Given the description of an element on the screen output the (x, y) to click on. 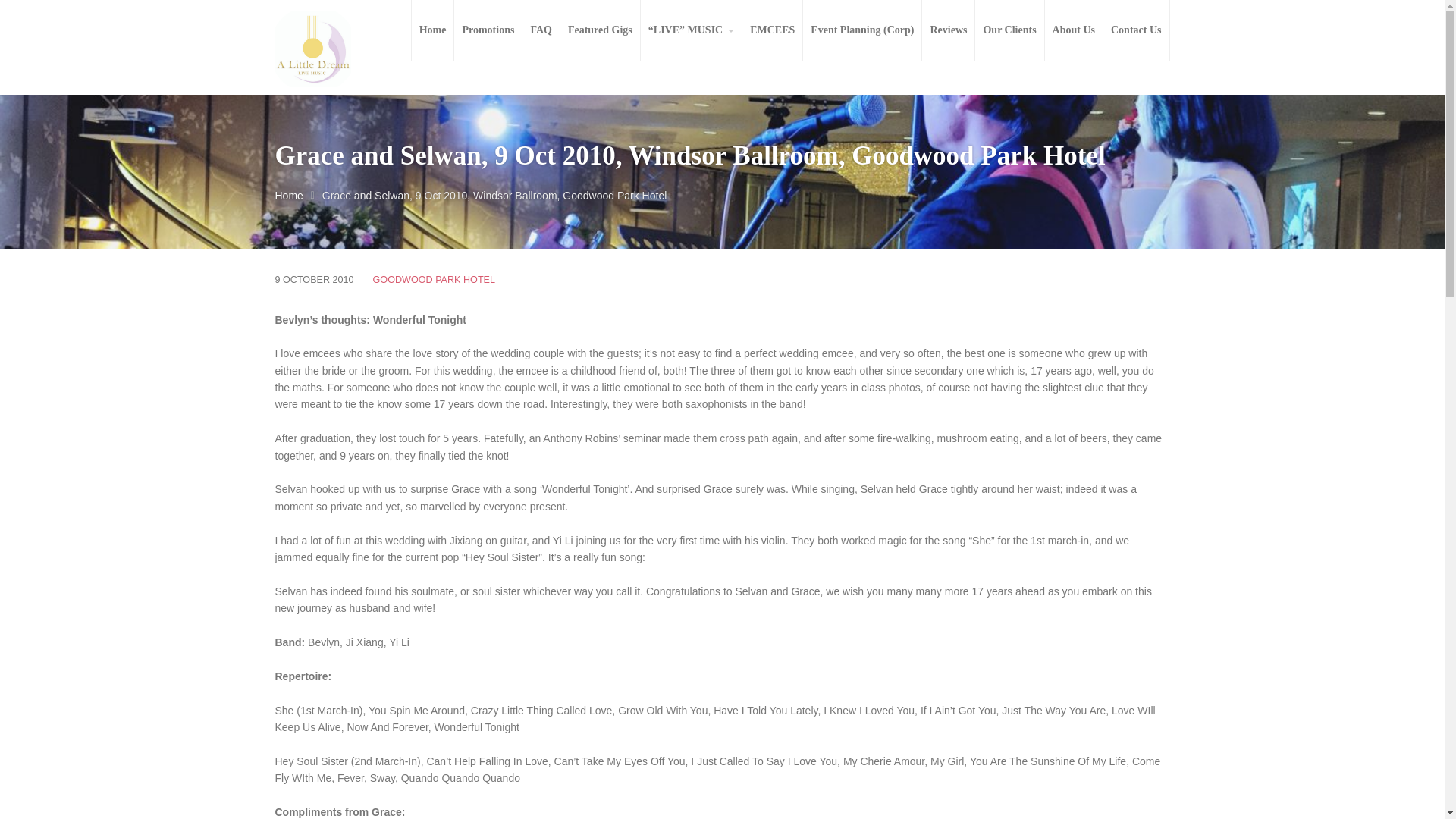
Contact Us (1136, 30)
About Us (1073, 30)
Promotions (487, 30)
Home (288, 195)
Featured Gigs (600, 30)
Our Clients (1009, 30)
EMCEES (772, 30)
